Given the description of an element on the screen output the (x, y) to click on. 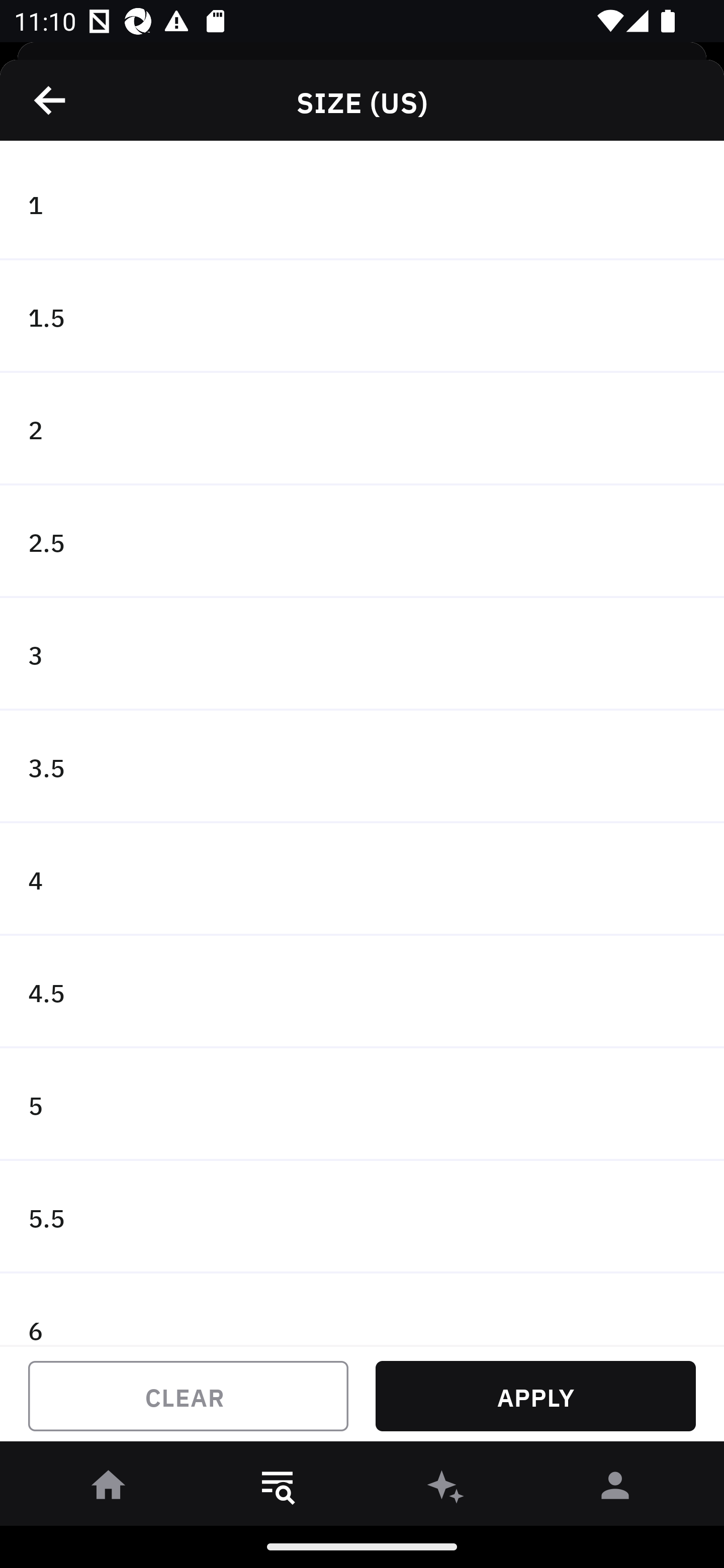
 (50, 100)
1 (362, 203)
1.5 (362, 316)
2 (362, 429)
2.5 (362, 541)
3 (362, 653)
3.5 (362, 766)
4 (362, 879)
4.5 (362, 992)
5 (362, 1104)
5.5 (362, 1216)
6 (362, 1309)
CLEAR  (188, 1396)
APPLY (535, 1396)
󰋜 (108, 1488)
󱎸 (277, 1488)
󰫢 (446, 1488)
󰀄 (615, 1488)
